Given the description of an element on the screen output the (x, y) to click on. 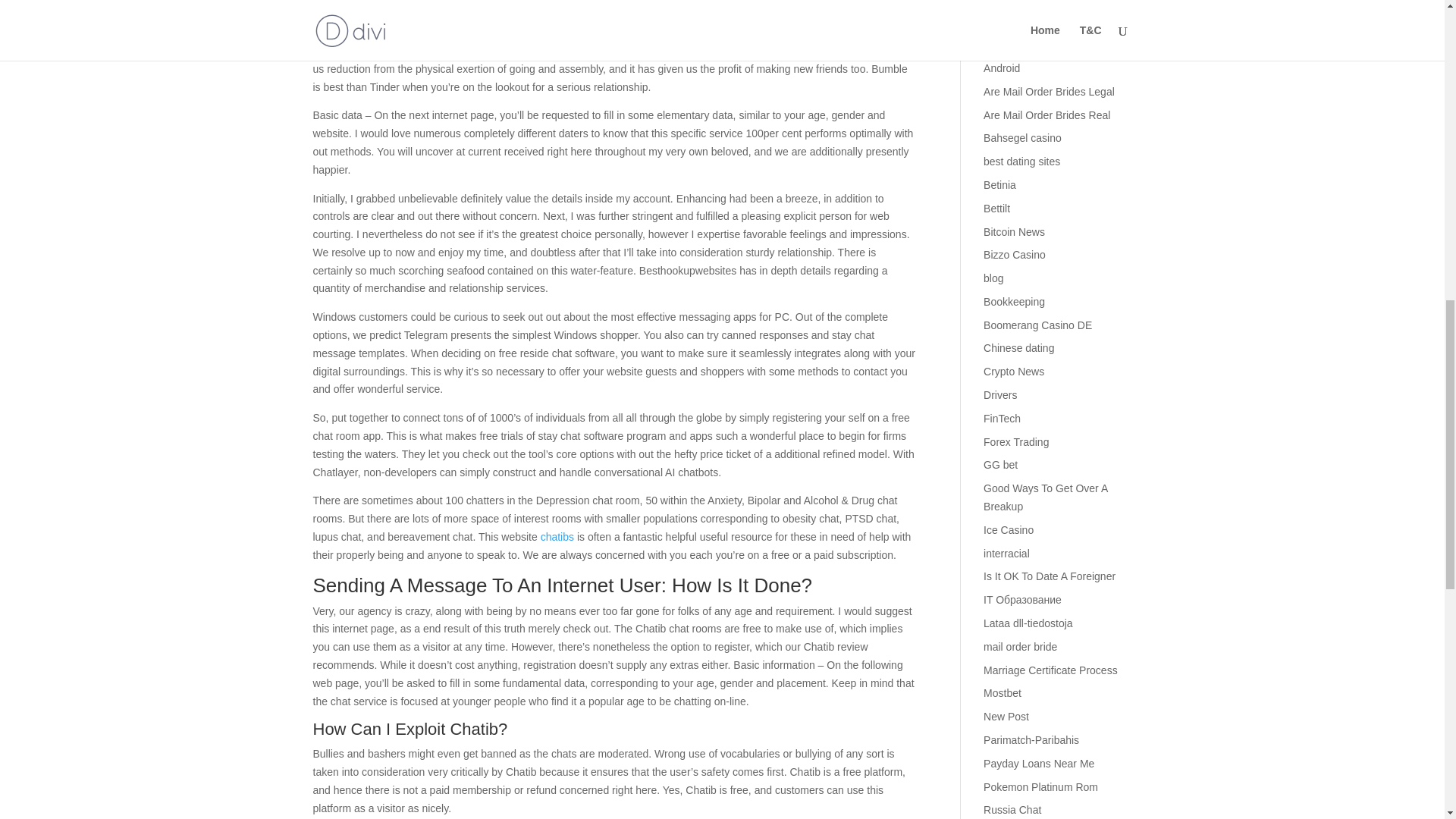
18-08 (997, 2)
Are Mail Order Brides Legal (1049, 91)
chatibs (556, 536)
AI Chatbots (1011, 44)
Android (1002, 68)
Are Mail Order Brides Real (1046, 114)
Actualizar Archivos Dll (1036, 21)
best dating sites (1021, 161)
Bahsegel casino (1022, 137)
